Given the description of an element on the screen output the (x, y) to click on. 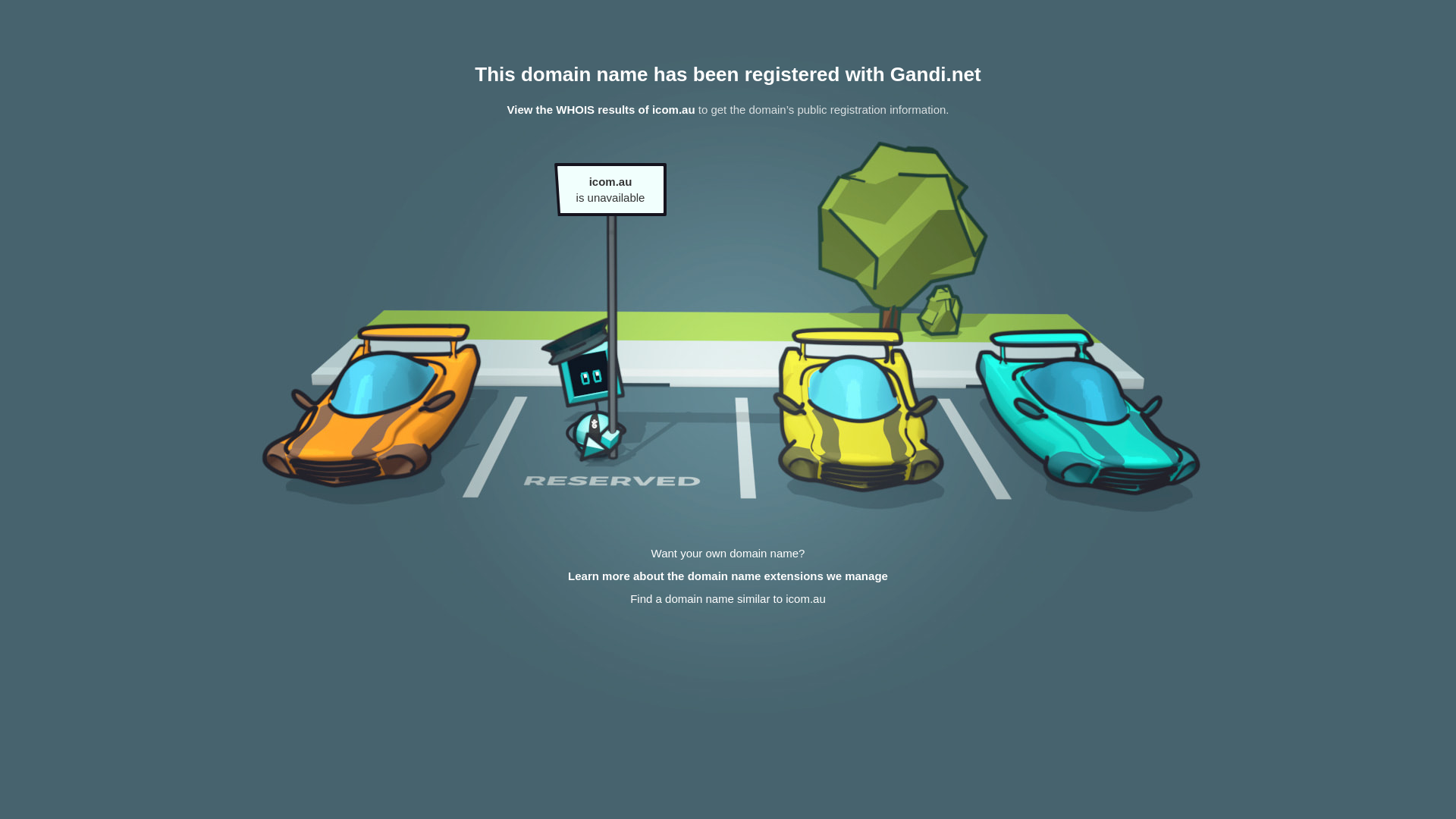
View the WHOIS results of icom.au Element type: text (600, 109)
Learn more about the domain name extensions we manage Element type: text (727, 575)
Find a domain name similar to icom.au Element type: text (727, 598)
